Given the description of an element on the screen output the (x, y) to click on. 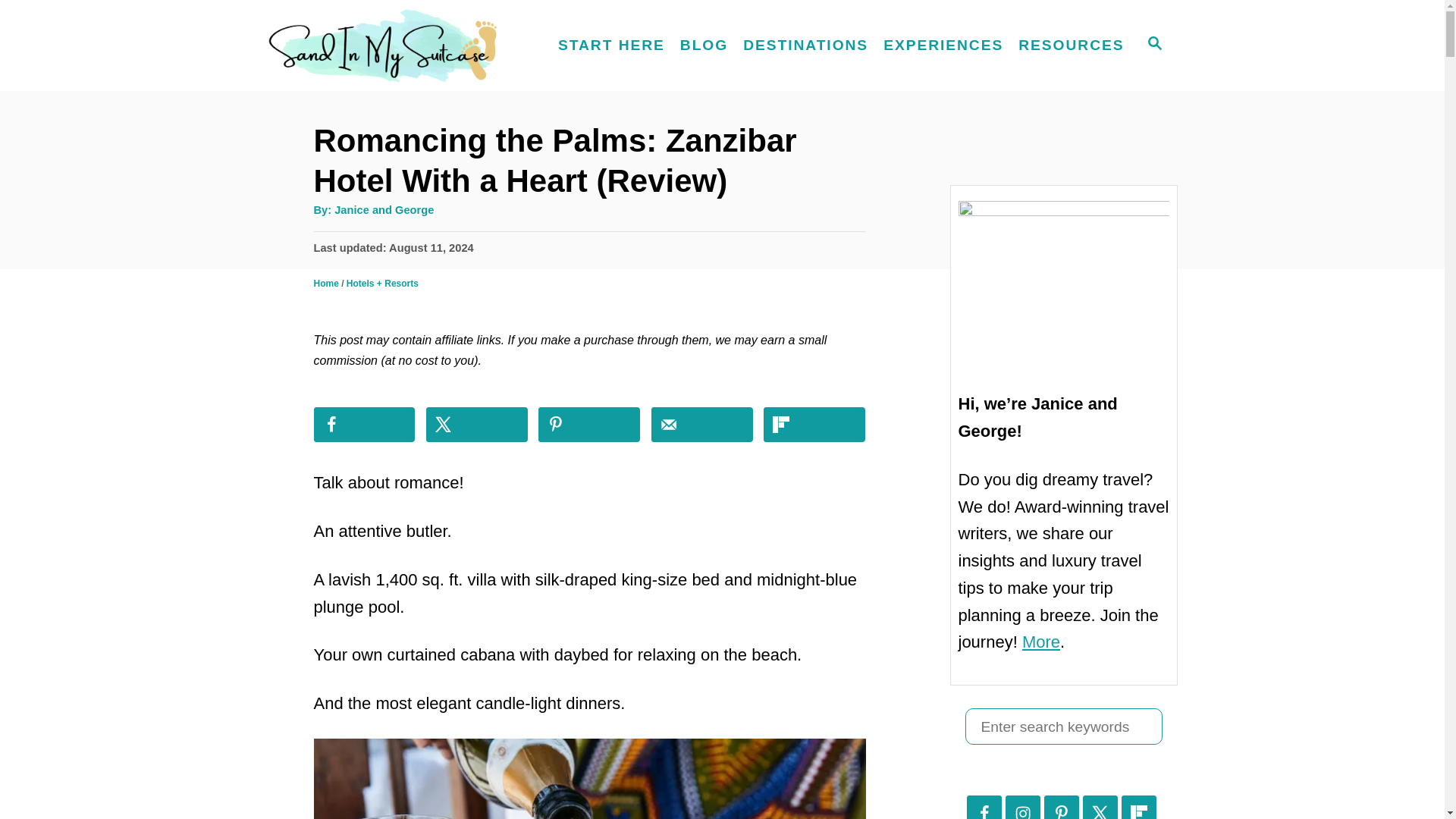
DESTINATIONS (805, 45)
Share on Flipboard (813, 424)
Save to Pinterest (589, 424)
START HERE (611, 45)
Send over email (701, 424)
BLOG (703, 45)
Sand In My Suitcase (394, 45)
Share on X (476, 424)
SEARCH (1153, 45)
Share on Facebook (364, 424)
